Given the description of an element on the screen output the (x, y) to click on. 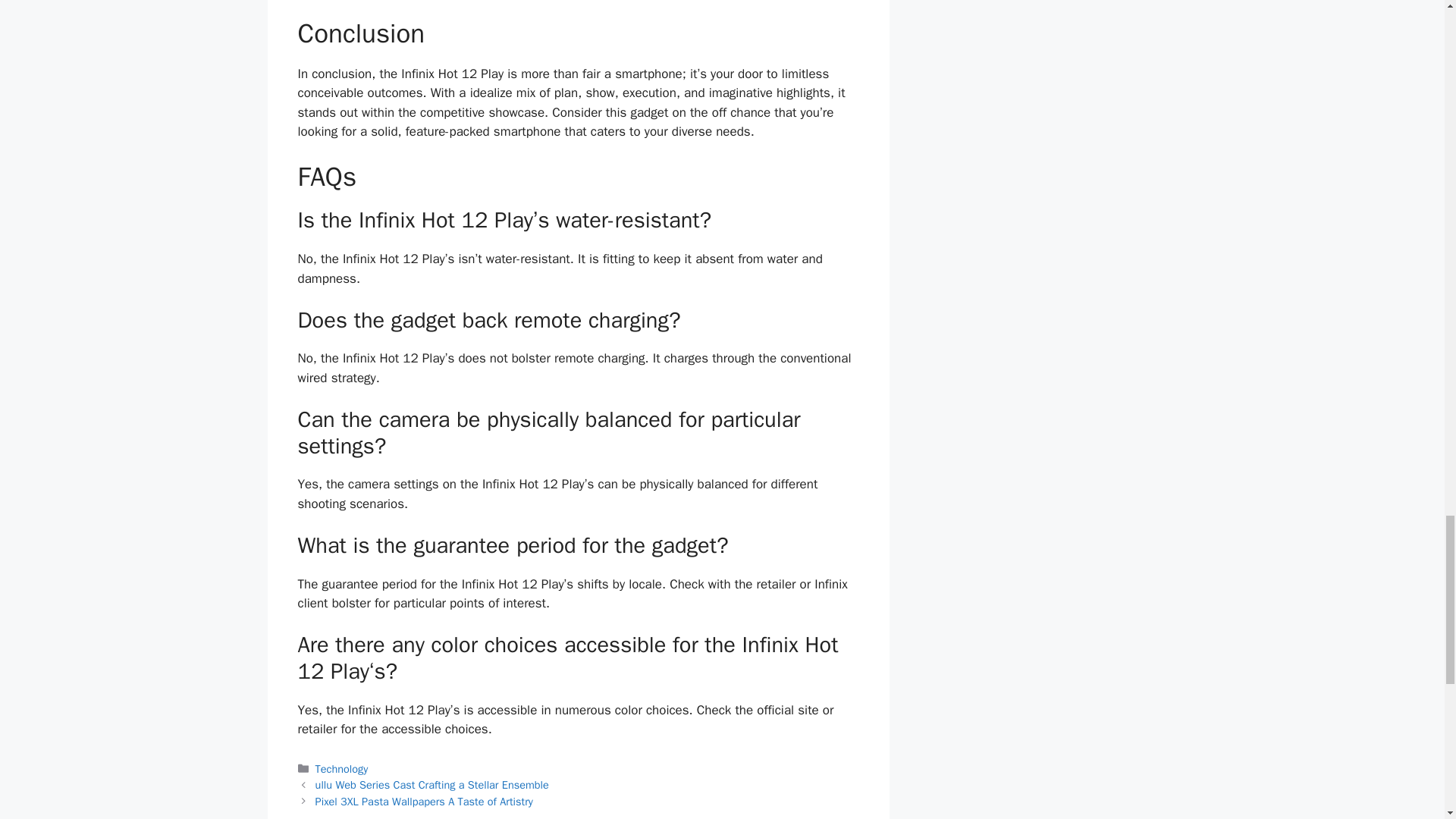
Technology (341, 768)
Pixel 3XL Pasta Wallpapers A Taste of Artistry (423, 801)
ullu Web Series Cast Crafting a Stellar Ensemble (431, 784)
